Given the description of an element on the screen output the (x, y) to click on. 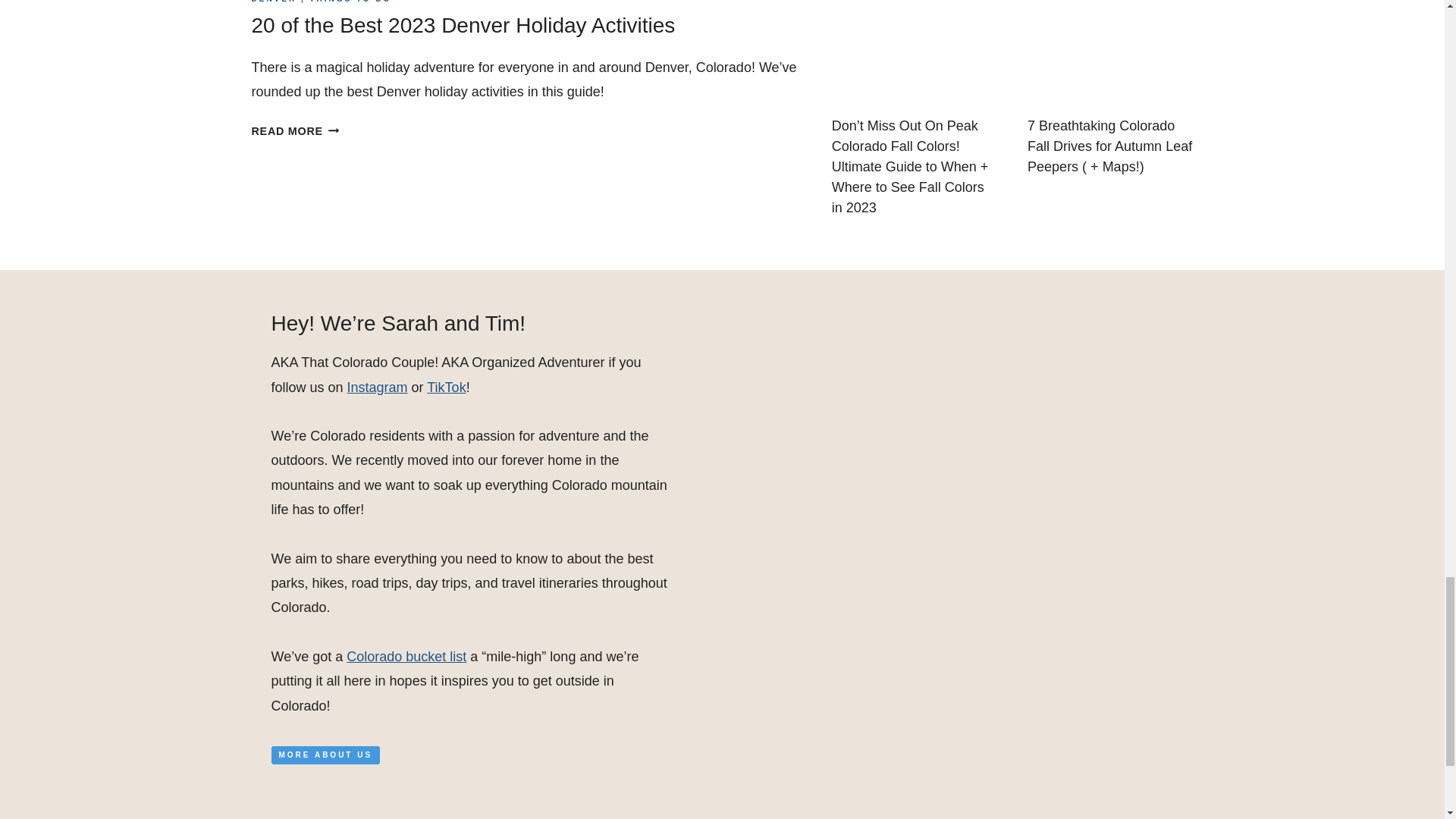
THINGS TO DO (349, 1)
Colorado Bucket List (405, 656)
TikTok (445, 387)
TikTok (445, 387)
20 of the Best 2023 Denver Holiday Activities (463, 24)
DENVER (274, 1)
MORE ABOUT US (325, 755)
Instagram (377, 387)
Colorado bucket list (405, 656)
Instagram (295, 131)
